Given the description of an element on the screen output the (x, y) to click on. 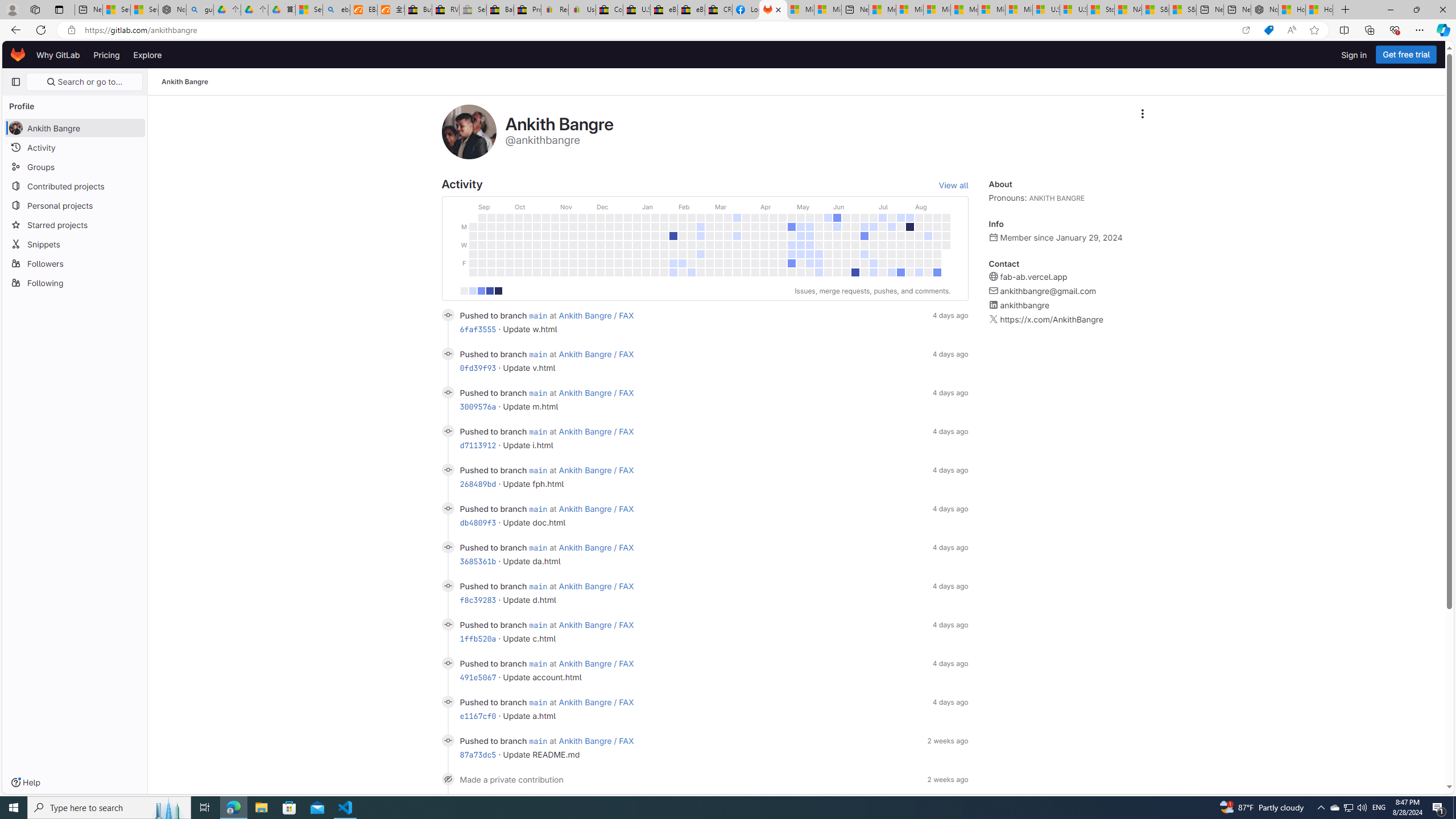
Class: s16 gl-fill-icon-subtle gl-mt-1 flex-shrink-0 (993, 319)
Why GitLab (58, 54)
